Given the description of an element on the screen output the (x, y) to click on. 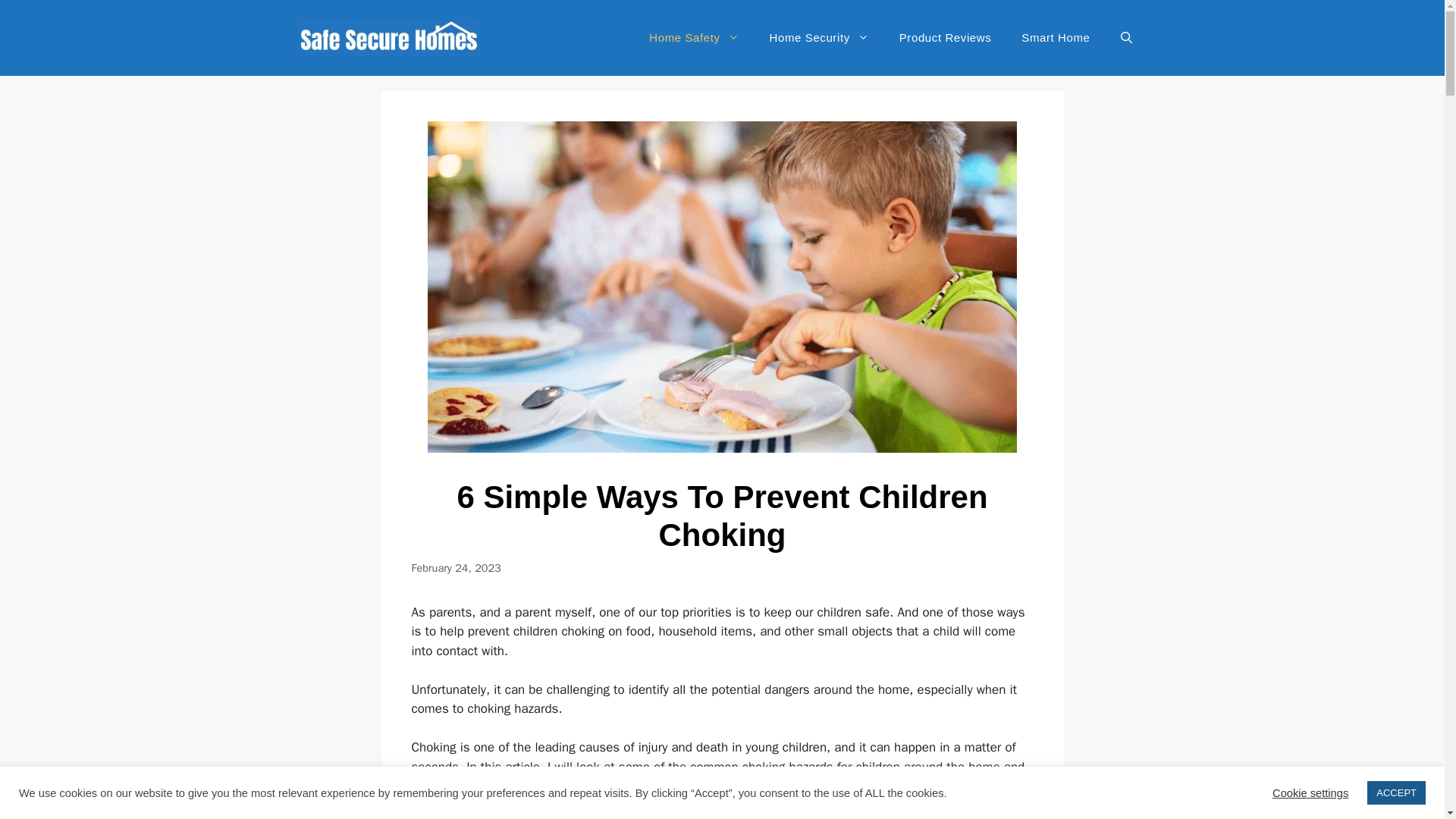
Smart Home (1055, 37)
Product Reviews (945, 37)
Home Safety (693, 37)
Home Security (818, 37)
